Given the description of an element on the screen output the (x, y) to click on. 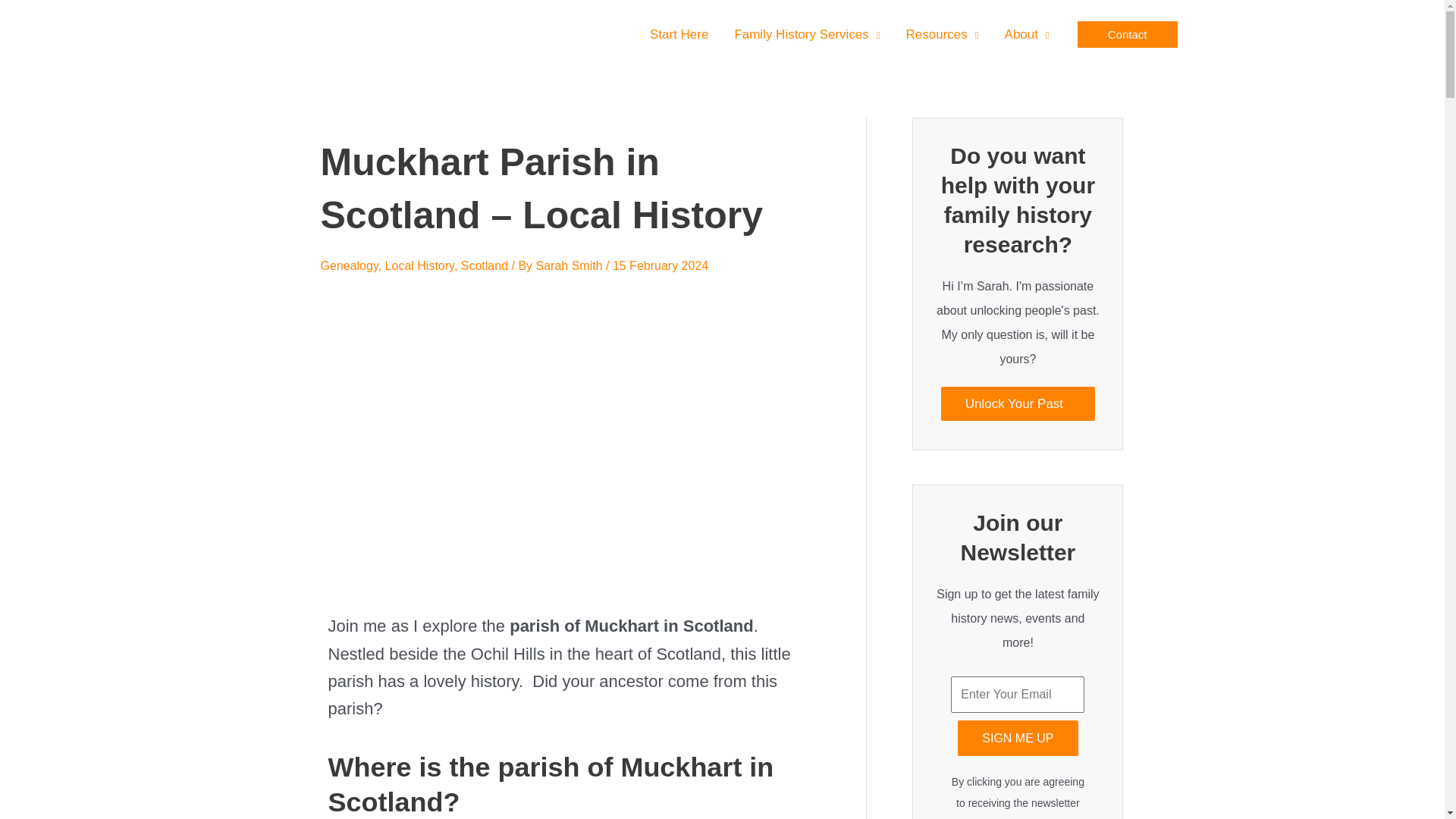
About (1026, 33)
View all posts by Sarah Smith (570, 265)
Family History Services (806, 33)
Resources (942, 33)
Contact (1127, 34)
Start Here (678, 33)
